Given the description of an element on the screen output the (x, y) to click on. 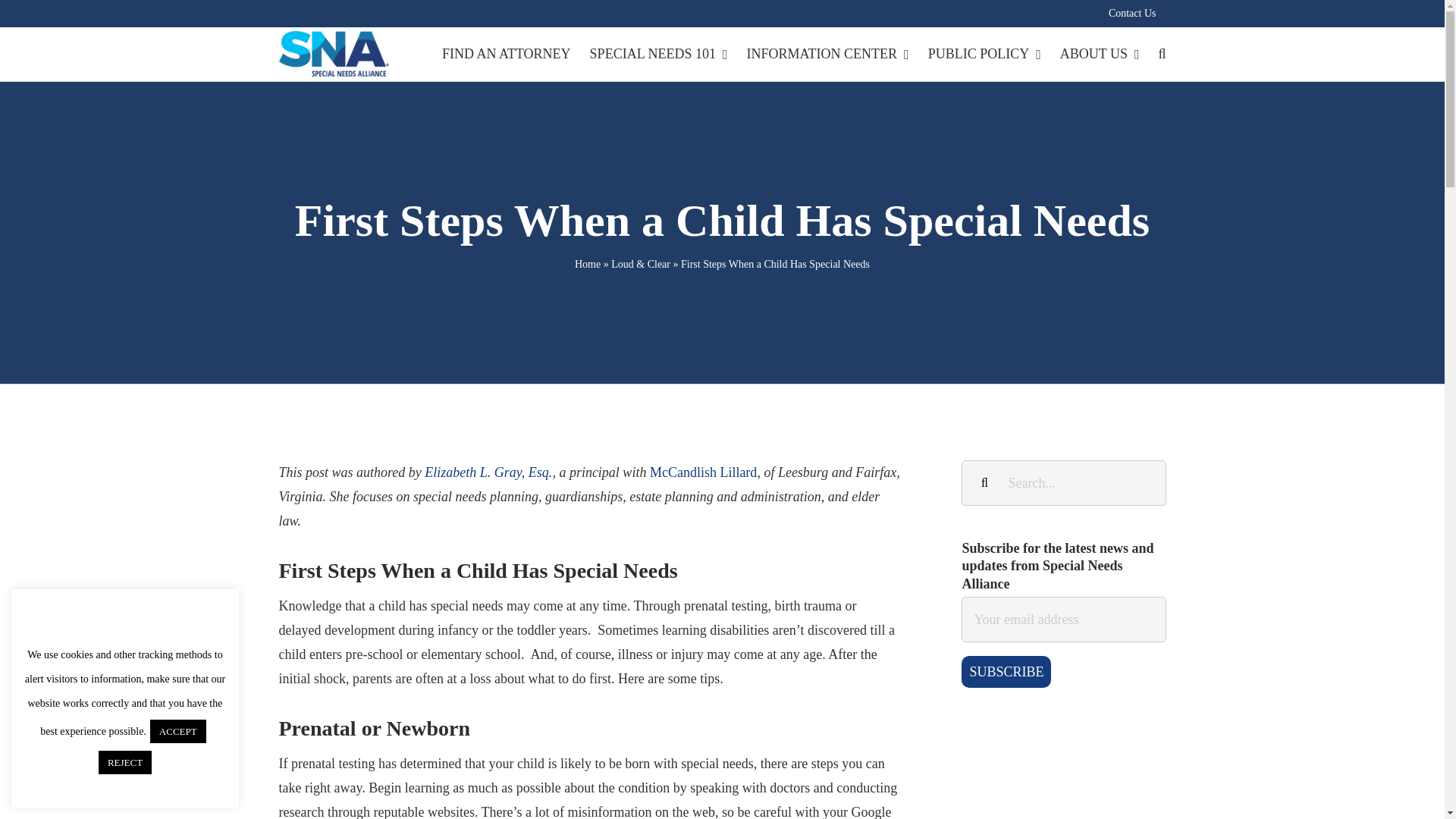
SUBSCRIBE (1005, 671)
INFORMATION CENTER (827, 53)
FIND AN ATTORNEY (506, 53)
SPECIAL NEEDS 101 (658, 53)
PUBLIC POLICY (984, 53)
ABOUT US (1099, 53)
Search (1161, 53)
Contact Us (1132, 13)
